Given the description of an element on the screen output the (x, y) to click on. 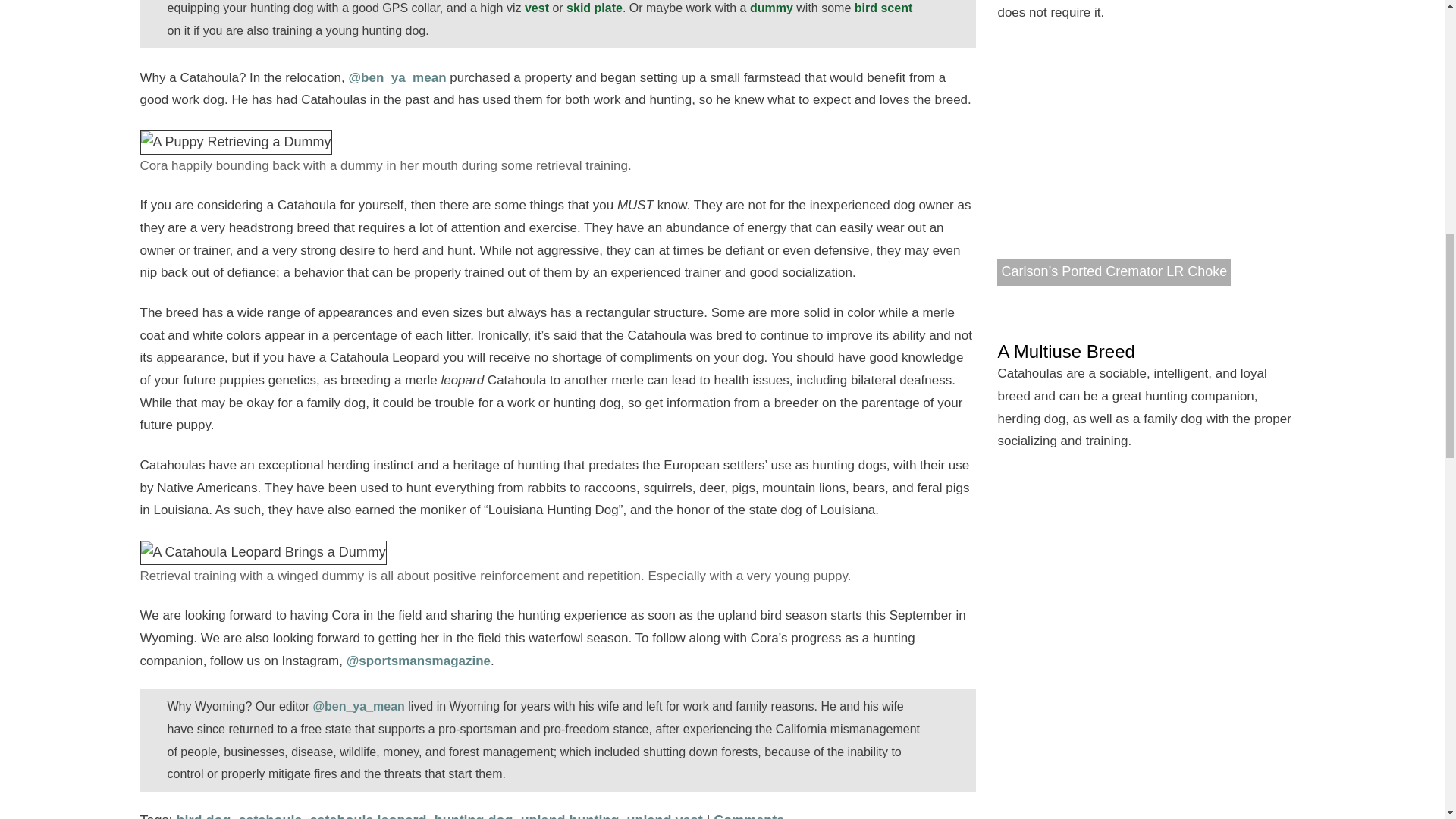
Comments (748, 816)
upland vest (665, 816)
catahoula (270, 816)
hunting dog (473, 816)
catahoula leopard (368, 816)
bird scent (883, 7)
vest (536, 7)
bird dog (203, 816)
dummy (771, 7)
skid plate (594, 7)
